Given the description of an element on the screen output the (x, y) to click on. 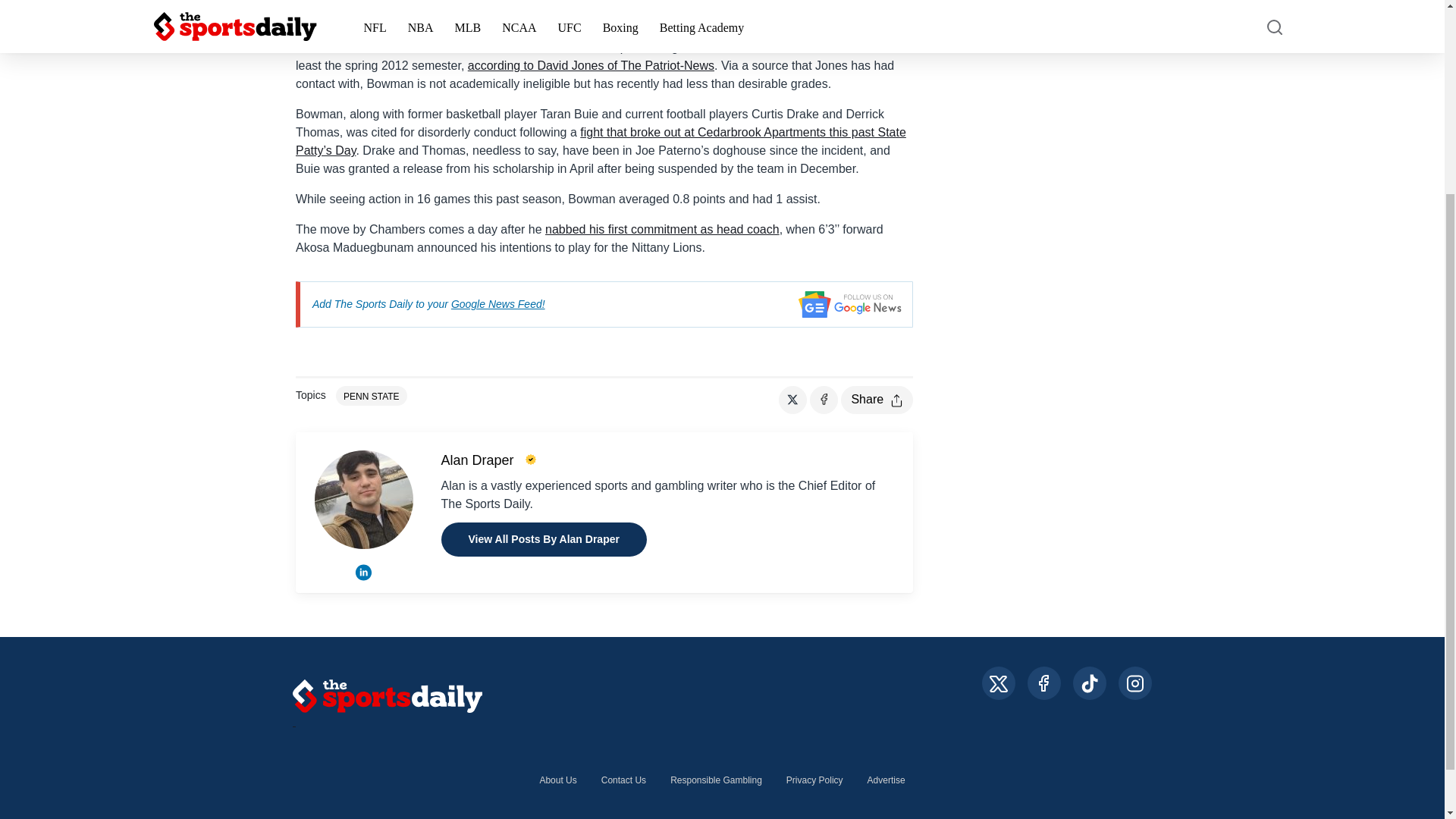
PENN STATE (371, 395)
Google News Feed! (497, 304)
according to David Jones of The Patriot-News (590, 65)
nabbed his first commitment as head coach (661, 228)
View All Posts By Alan Draper (543, 539)
Share   (876, 399)
